Given the description of an element on the screen output the (x, y) to click on. 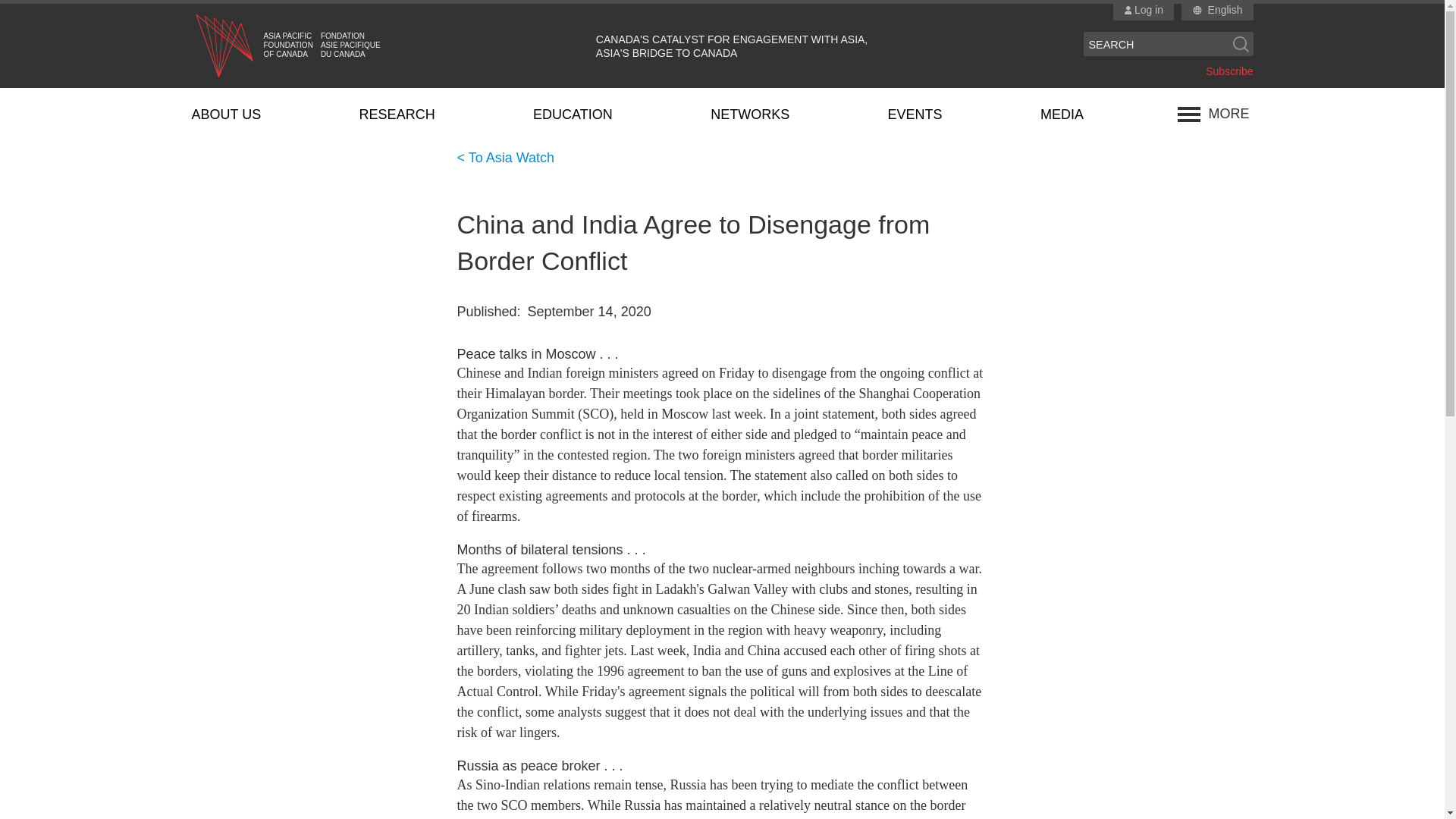
Log in (1143, 10)
Search (1240, 44)
Subscribe (1228, 70)
English (1225, 10)
SEARCH (1155, 43)
Search (1240, 44)
